Given the description of an element on the screen output the (x, y) to click on. 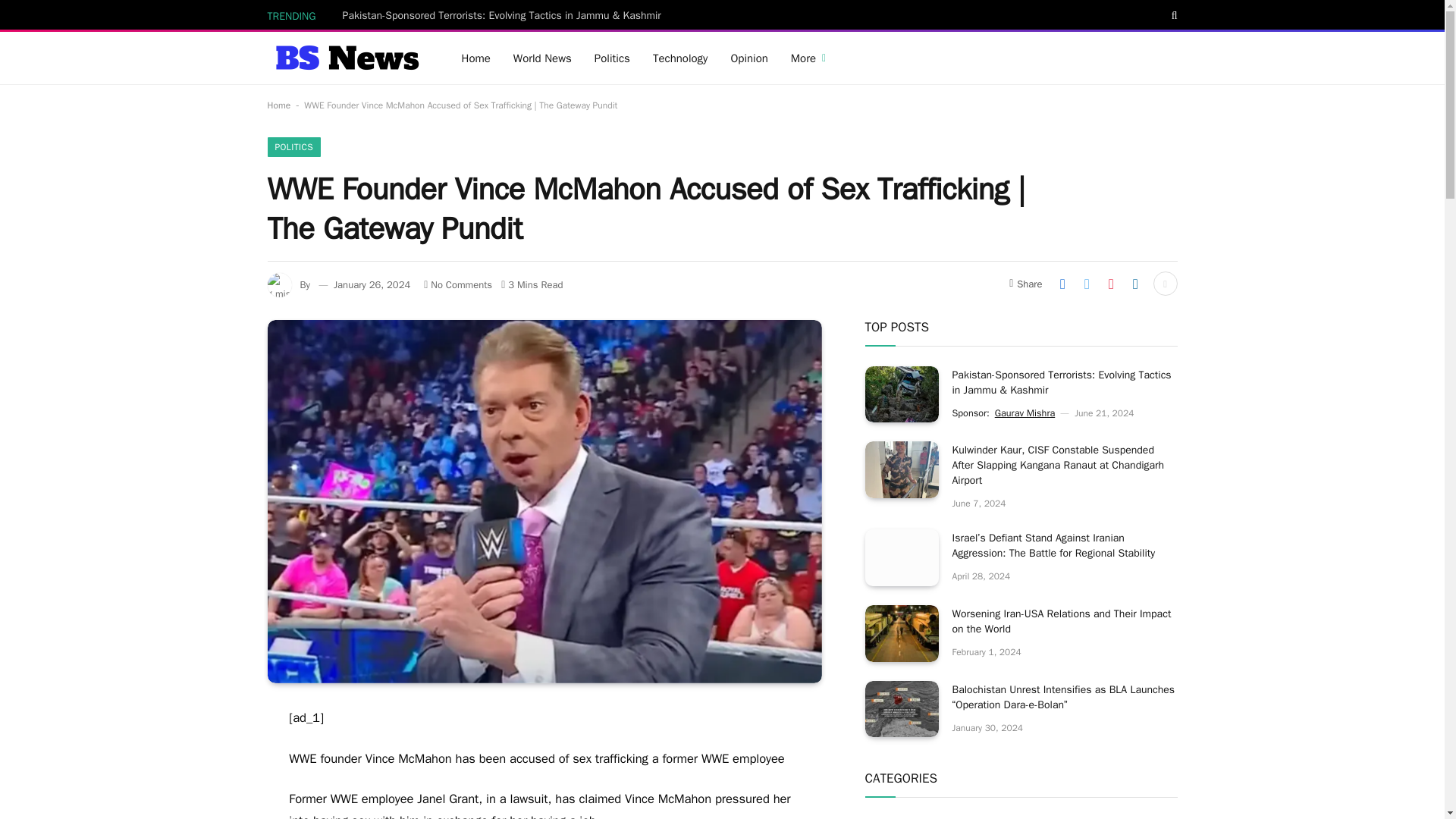
bsnews.in (344, 57)
Politics (612, 57)
Show More Social Sharing (1164, 283)
No Comments (457, 284)
More (807, 57)
Opinion (748, 57)
Technology (680, 57)
Share on Facebook (1062, 283)
POLITICS (293, 147)
Home (475, 57)
Home (277, 105)
Share on Pinterest (1110, 283)
Share on LinkedIn (1135, 283)
World News (542, 57)
